Given the description of an element on the screen output the (x, y) to click on. 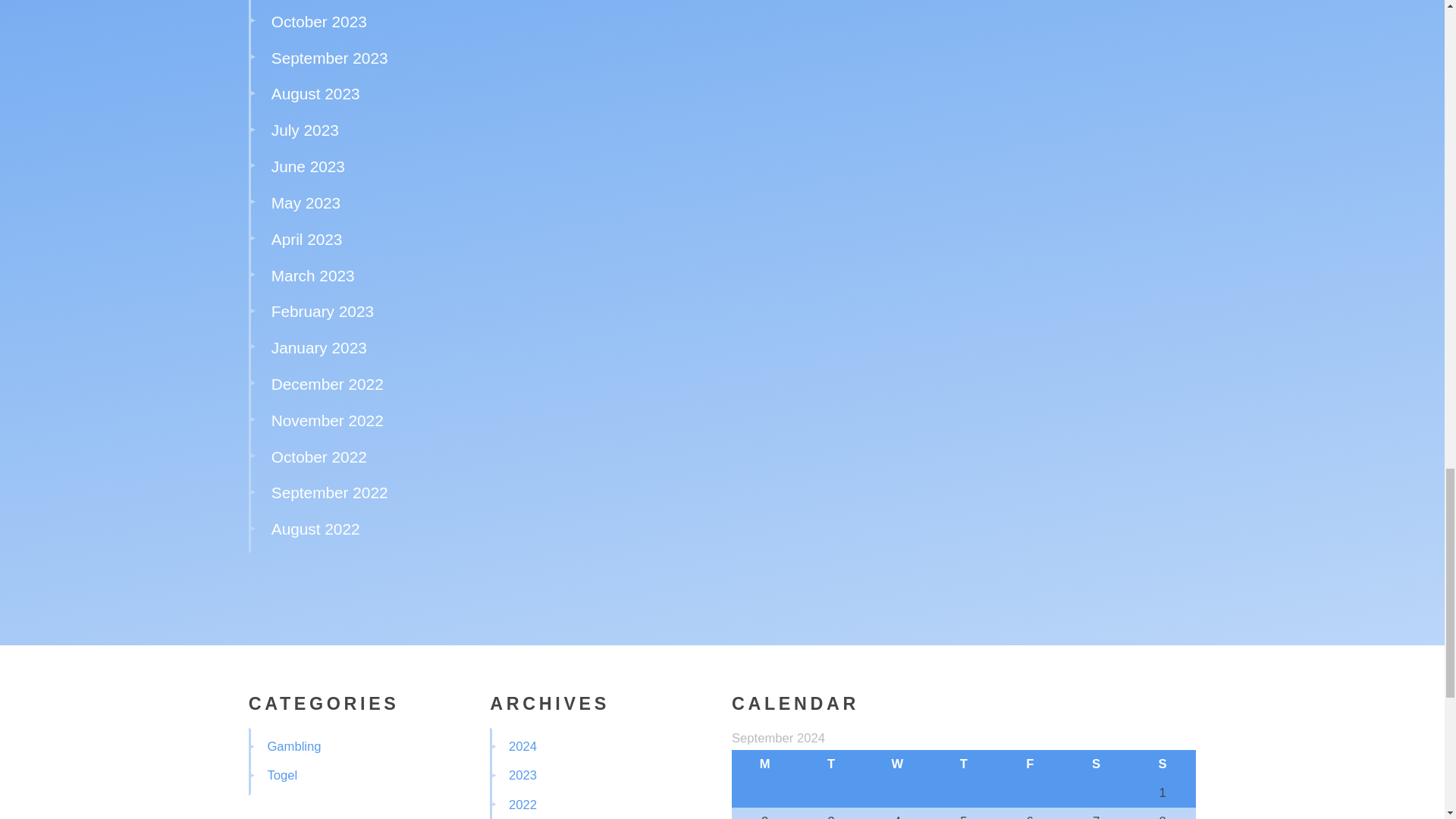
October 2023 (318, 21)
2024 (522, 746)
November 2022 (327, 420)
April 2023 (306, 239)
May 2023 (305, 202)
Tuesday (830, 764)
Saturday (1095, 764)
July 2023 (304, 129)
March 2023 (312, 275)
Togel (281, 775)
